Given the description of an element on the screen output the (x, y) to click on. 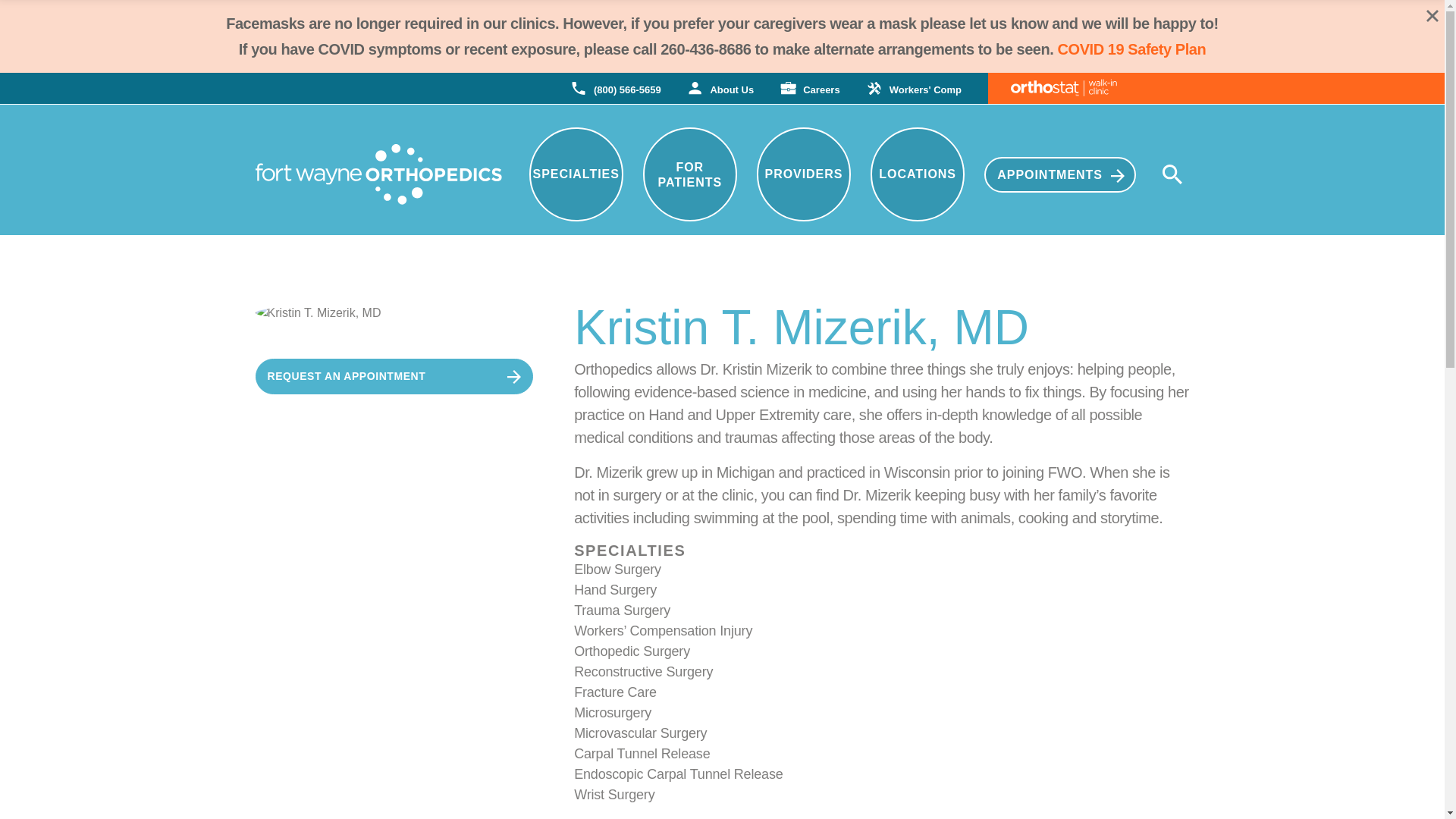
Careers (810, 88)
For Patients (689, 174)
About Us (720, 88)
Home (377, 174)
Specialties (576, 174)
OrthoStat Walk-in Clinic (1051, 88)
APPOINTMENTS (1059, 174)
Providers (803, 174)
Locations (916, 174)
COVID 19 Safety Plan (1132, 48)
